Given the description of an element on the screen output the (x, y) to click on. 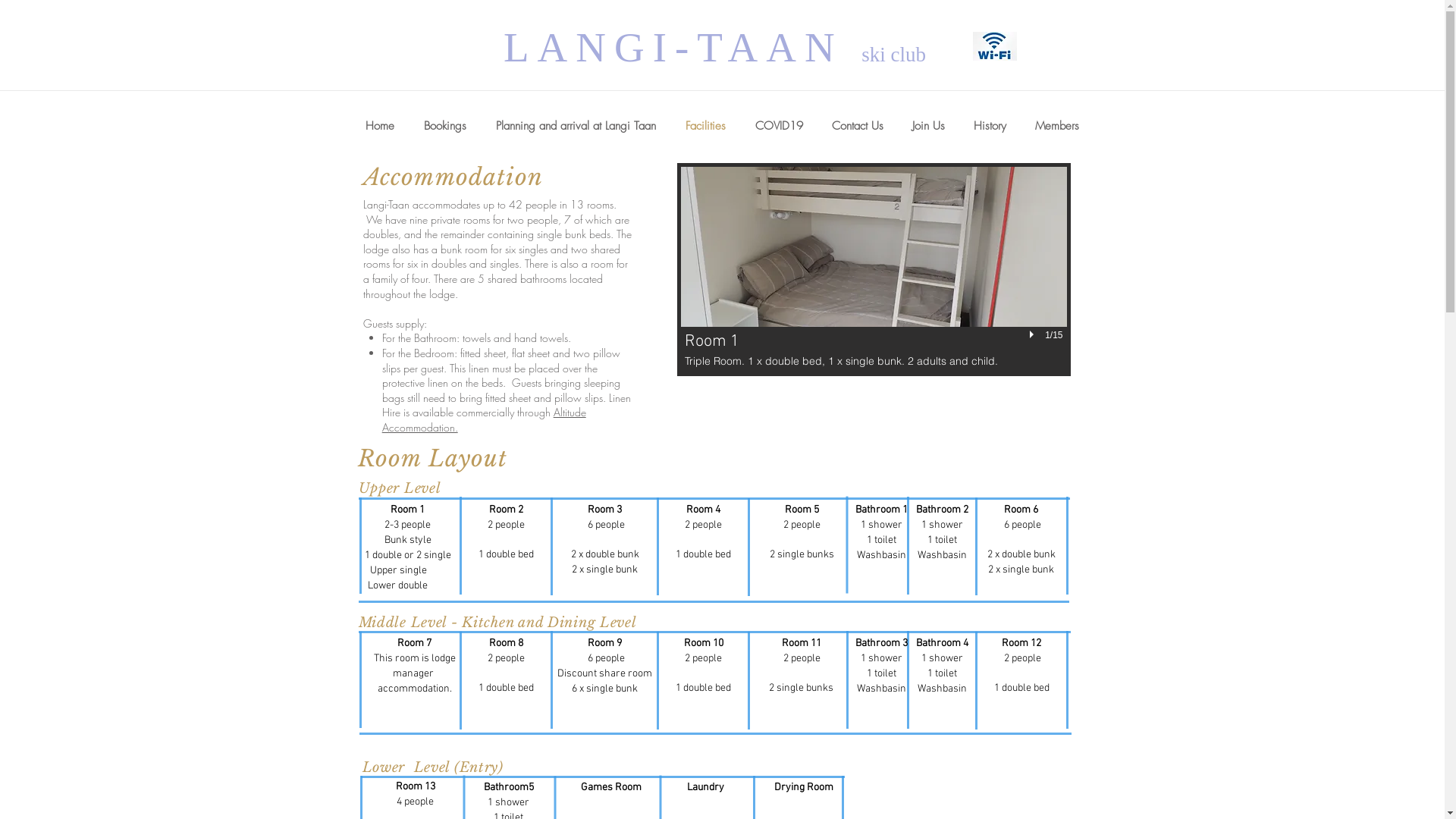
Home Element type: text (379, 125)
LANGI-TAAN  Element type: text (682, 47)
Contact Us Element type: text (857, 125)
Bookings Element type: text (445, 125)
Facilities Element type: text (705, 125)
COVID19 Element type: text (778, 125)
History Element type: text (988, 125)
Planning and arrival at Langi Taan Element type: text (575, 125)
Members Element type: text (1056, 125)
Join Us Element type: text (928, 125)
Altitude Accommodation. Element type: text (484, 419)
